Given the description of an element on the screen output the (x, y) to click on. 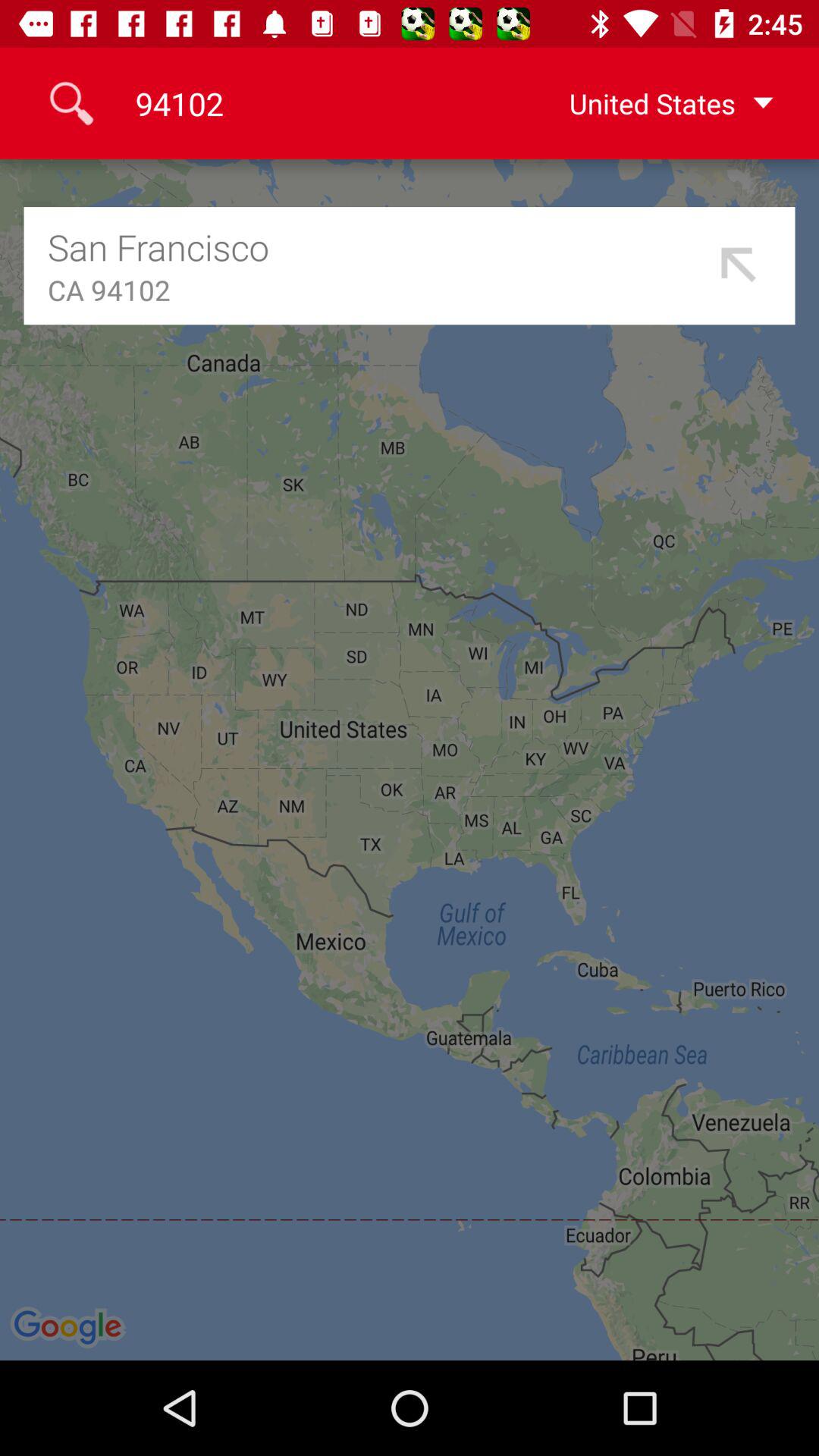
launch the item below united states (739, 265)
